Given the description of an element on the screen output the (x, y) to click on. 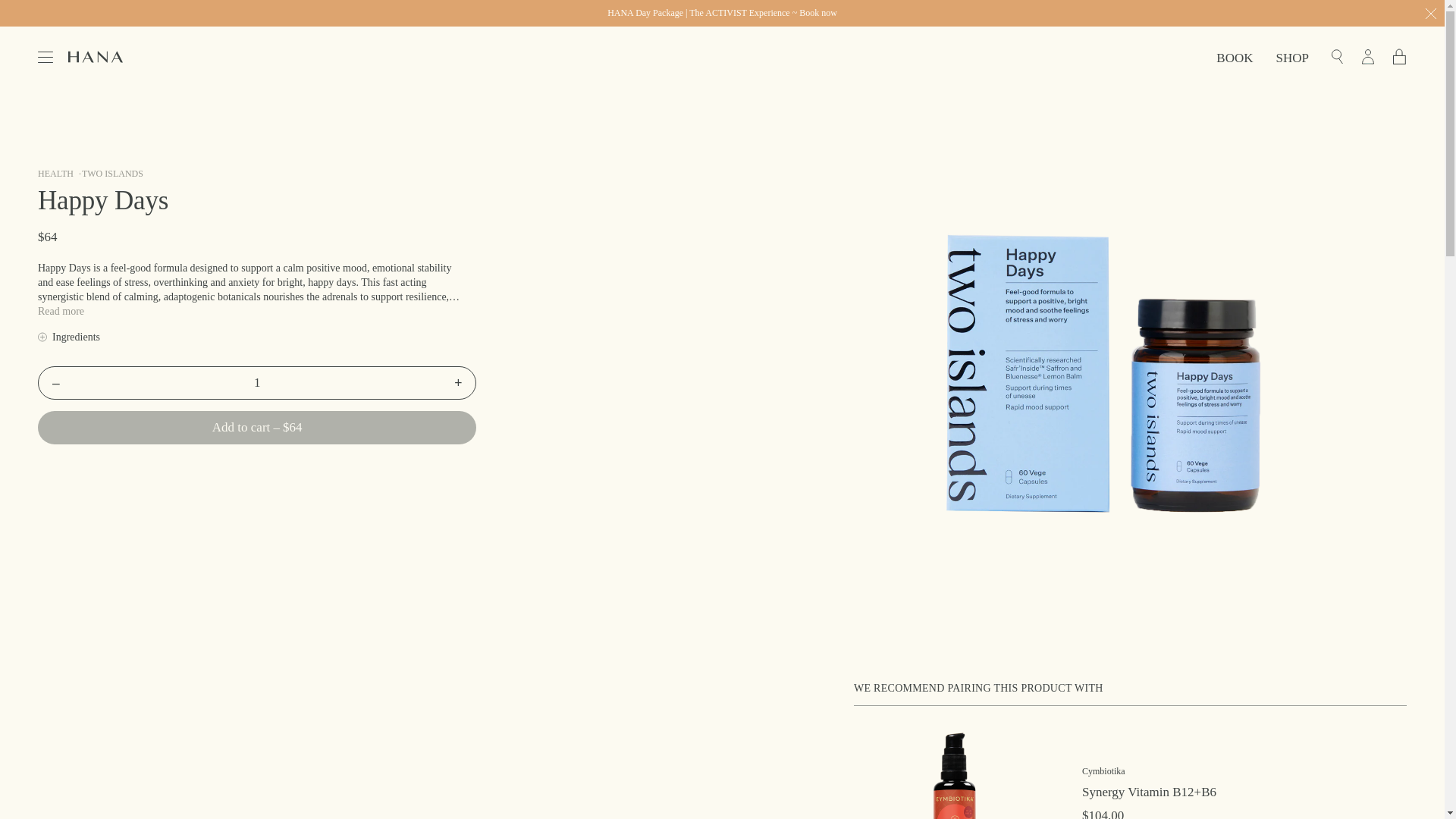
1 (256, 382)
BOOK (1233, 57)
SHOP (1292, 57)
